Given the description of an element on the screen output the (x, y) to click on. 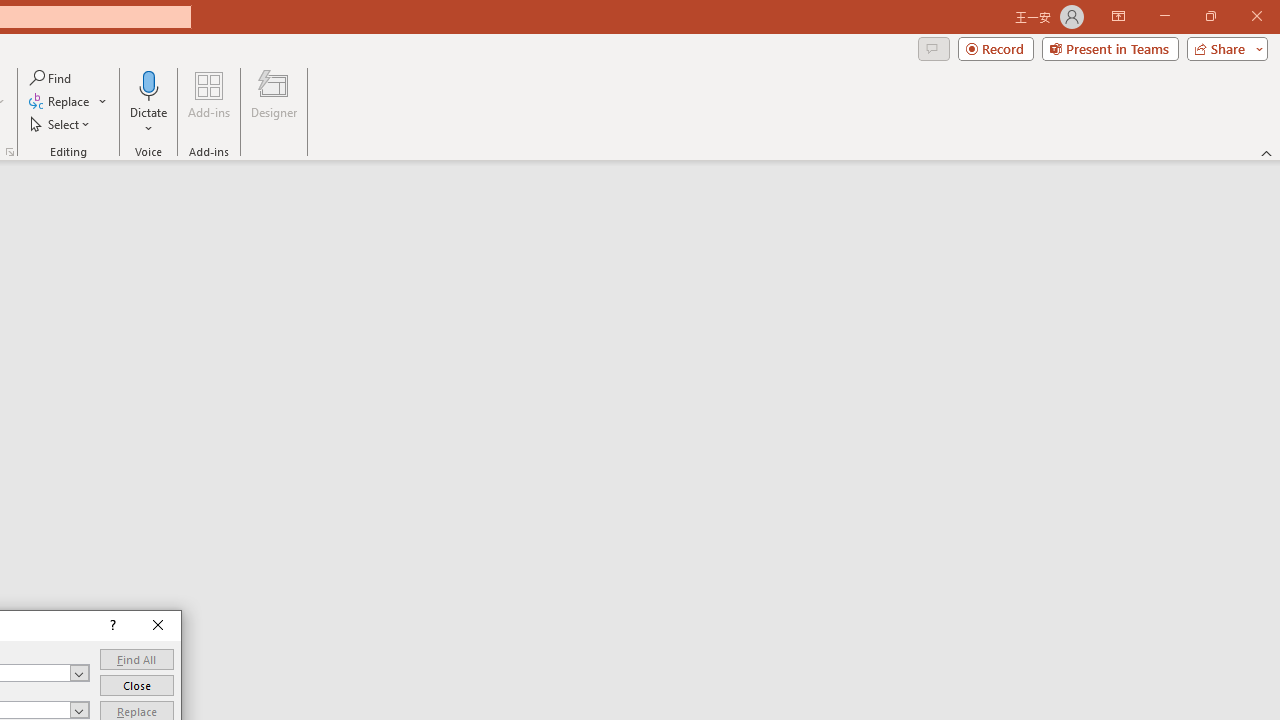
Find All (136, 659)
Context help (111, 625)
